Given the description of an element on the screen output the (x, y) to click on. 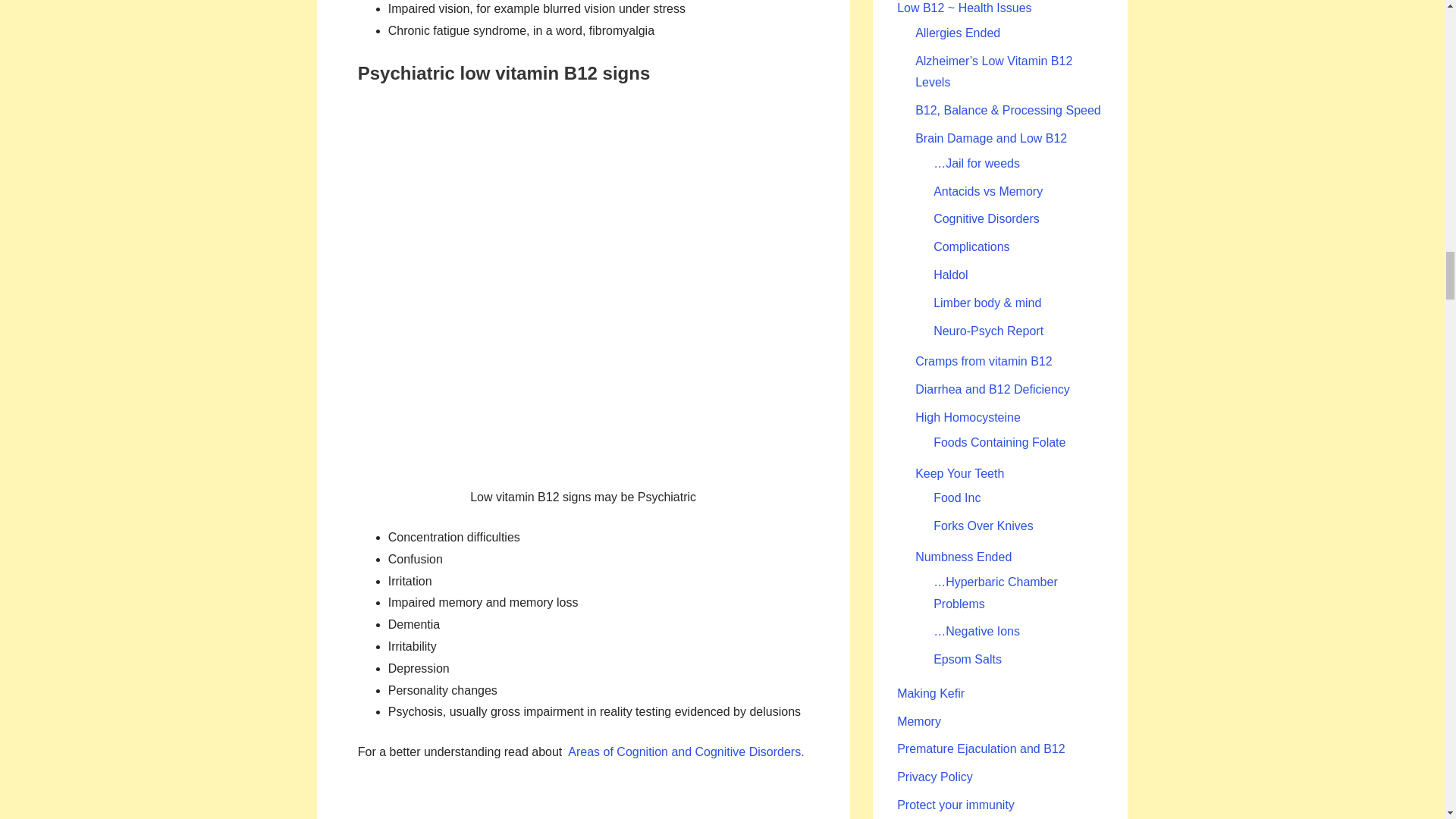
Low vitamin B12 signs may be Psychiatric (582, 286)
